Given the description of an element on the screen output the (x, y) to click on. 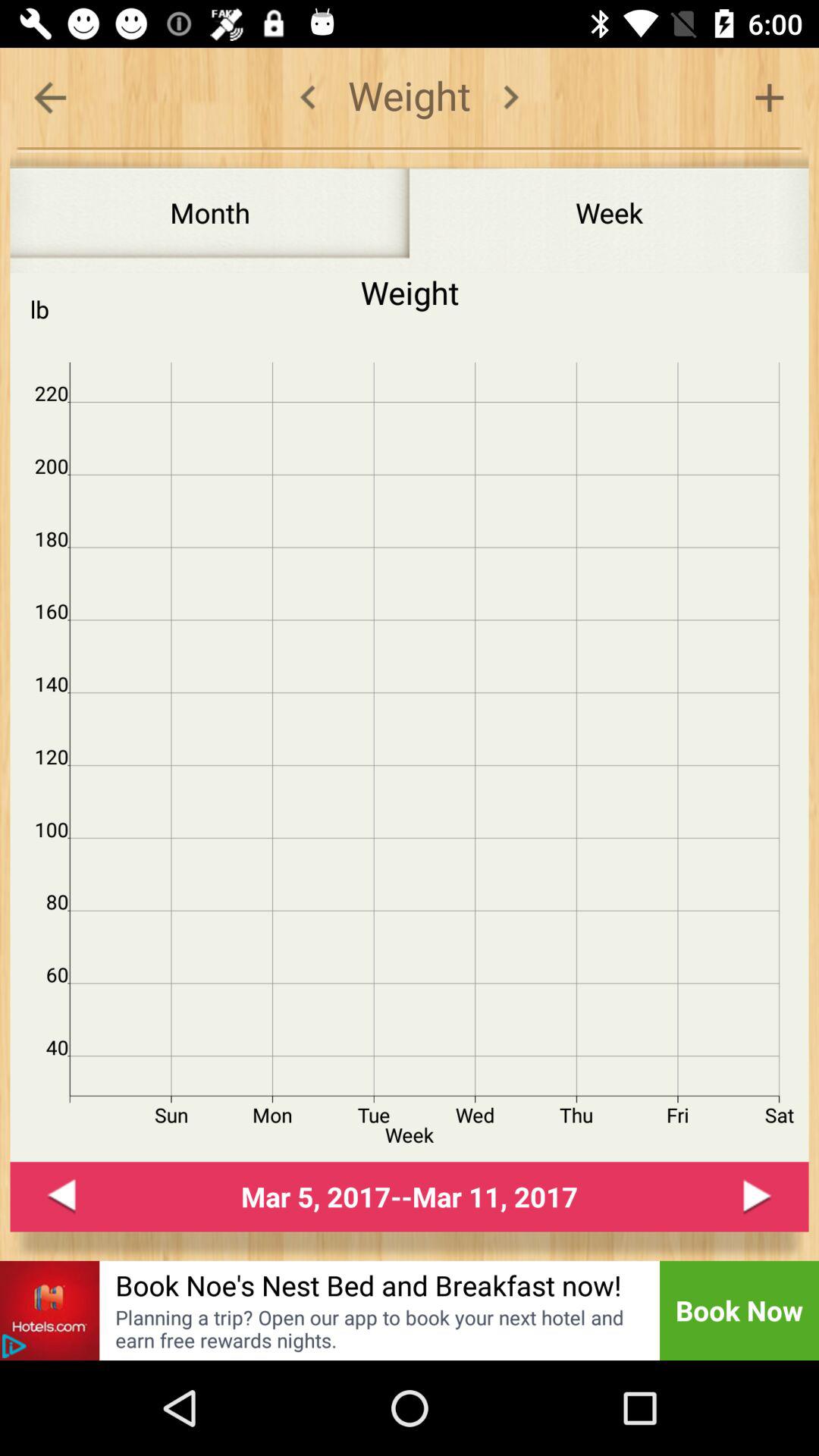
change other category (510, 97)
